Given the description of an element on the screen output the (x, y) to click on. 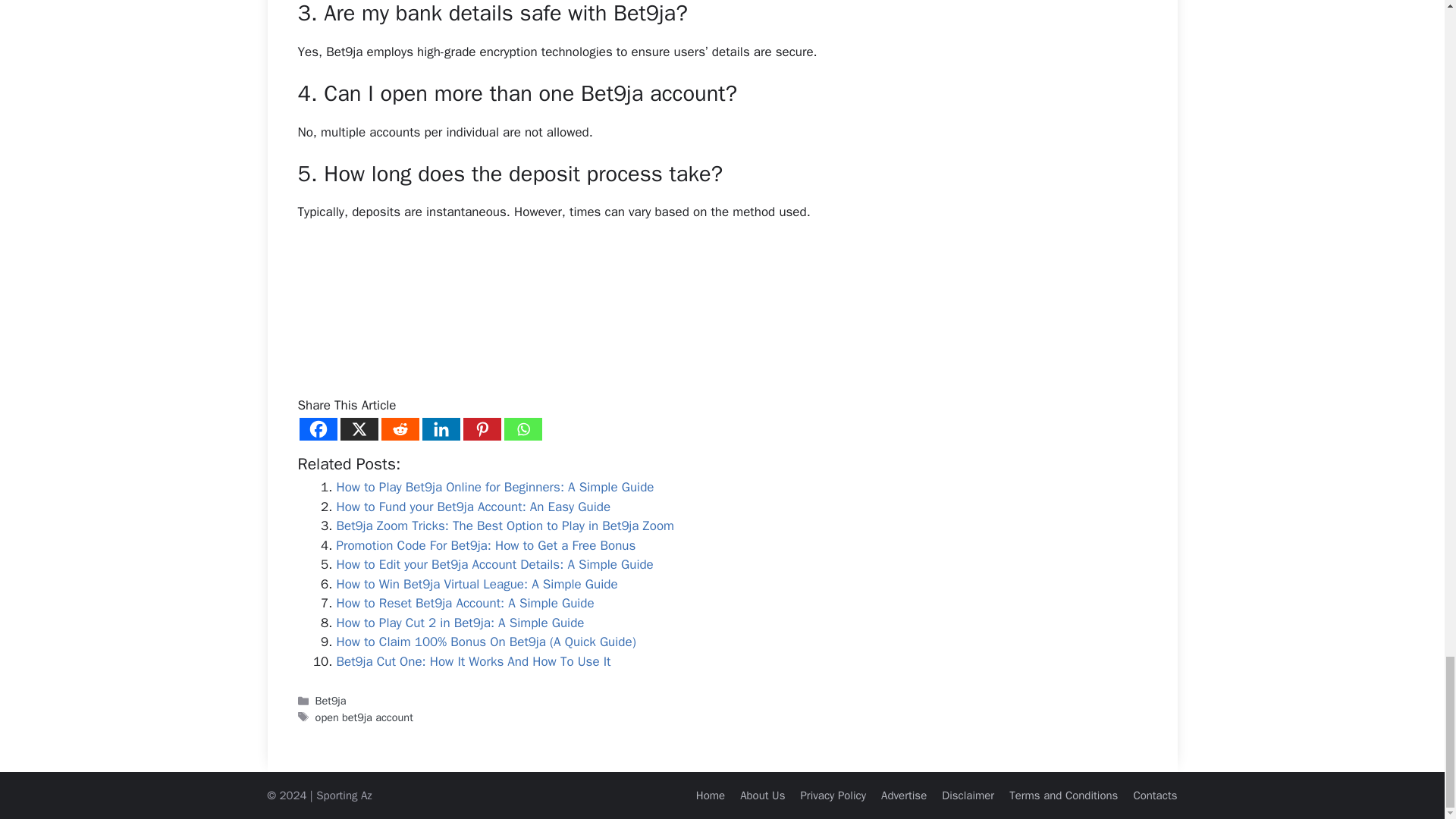
How to Play Bet9ja Online for Beginners: A Simple Guide (494, 487)
Facebook (317, 428)
Reddit (399, 428)
How to Edit your Bet9ja Account Details: A Simple Guide (494, 564)
How to Reset Bet9ja Account: A Simple Guide (465, 602)
How to Edit your Bet9ja Account Details: A Simple Guide (494, 564)
Promotion Code For Bet9ja: How to Get a Free Bonus (486, 545)
Linkedin (441, 428)
How to Win Bet9ja Virtual League: A Simple Guide (476, 584)
Whatsapp (522, 428)
